Given the description of an element on the screen output the (x, y) to click on. 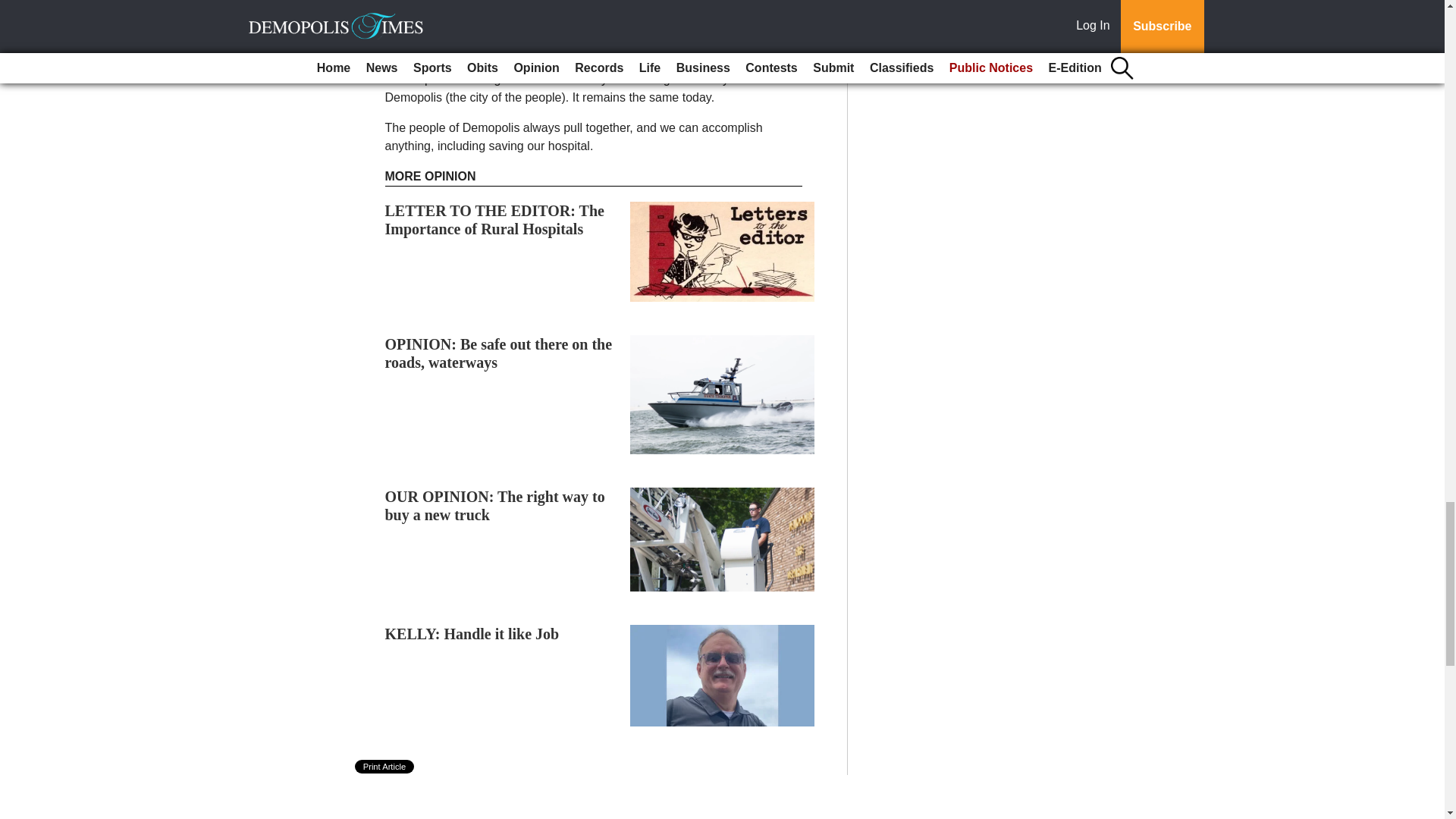
OUR OPINION: The right way to buy a new truck (495, 505)
Print Article (384, 766)
OUR OPINION: The right way to buy a new truck (495, 505)
OPINION: Be safe out there on the roads, waterways (498, 353)
LETTER TO THE EDITOR: The Importance of Rural Hospitals (494, 219)
OPINION: Be safe out there on the roads, waterways (498, 353)
KELLY: Handle it like Job (472, 633)
KELLY: Handle it like Job (472, 633)
LETTER TO THE EDITOR: The Importance of Rural Hospitals (494, 219)
